Given the description of an element on the screen output the (x, y) to click on. 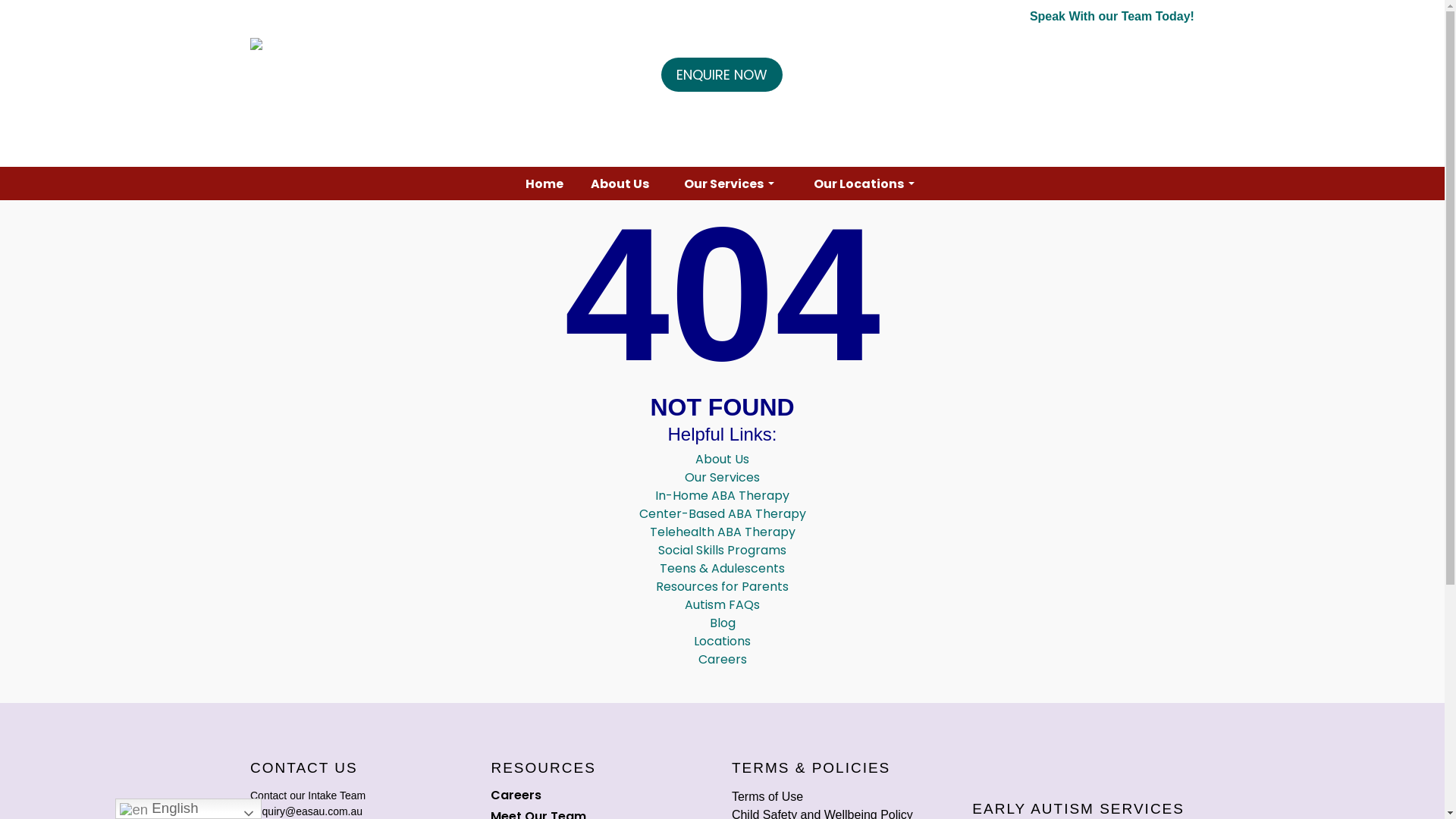
Resources for Parents Element type: text (721, 586)
Autism FAQs Element type: text (721, 604)
About Us Element type: text (619, 183)
Our Locations Element type: text (862, 183)
Careers Element type: text (601, 795)
Blog Element type: text (722, 622)
Our Services Element type: text (727, 183)
Social Skills Programs Element type: text (722, 549)
Our Services Element type: text (721, 477)
Careers Element type: text (721, 659)
About Us Element type: text (722, 458)
Telehealth ABA Therapy Element type: text (721, 531)
In-Home ABA Therapy Element type: text (722, 495)
Center-Based ABA Therapy Element type: text (721, 513)
enquiry@easau.com.au Element type: text (306, 811)
Teens & Adulescents Element type: text (721, 568)
Terms of Use Element type: text (767, 796)
ENQUIRE NOW Element type: text (721, 74)
Contact our Intake Team Element type: text (307, 795)
Home Element type: text (544, 183)
Locations Element type: text (721, 640)
